Given the description of an element on the screen output the (x, y) to click on. 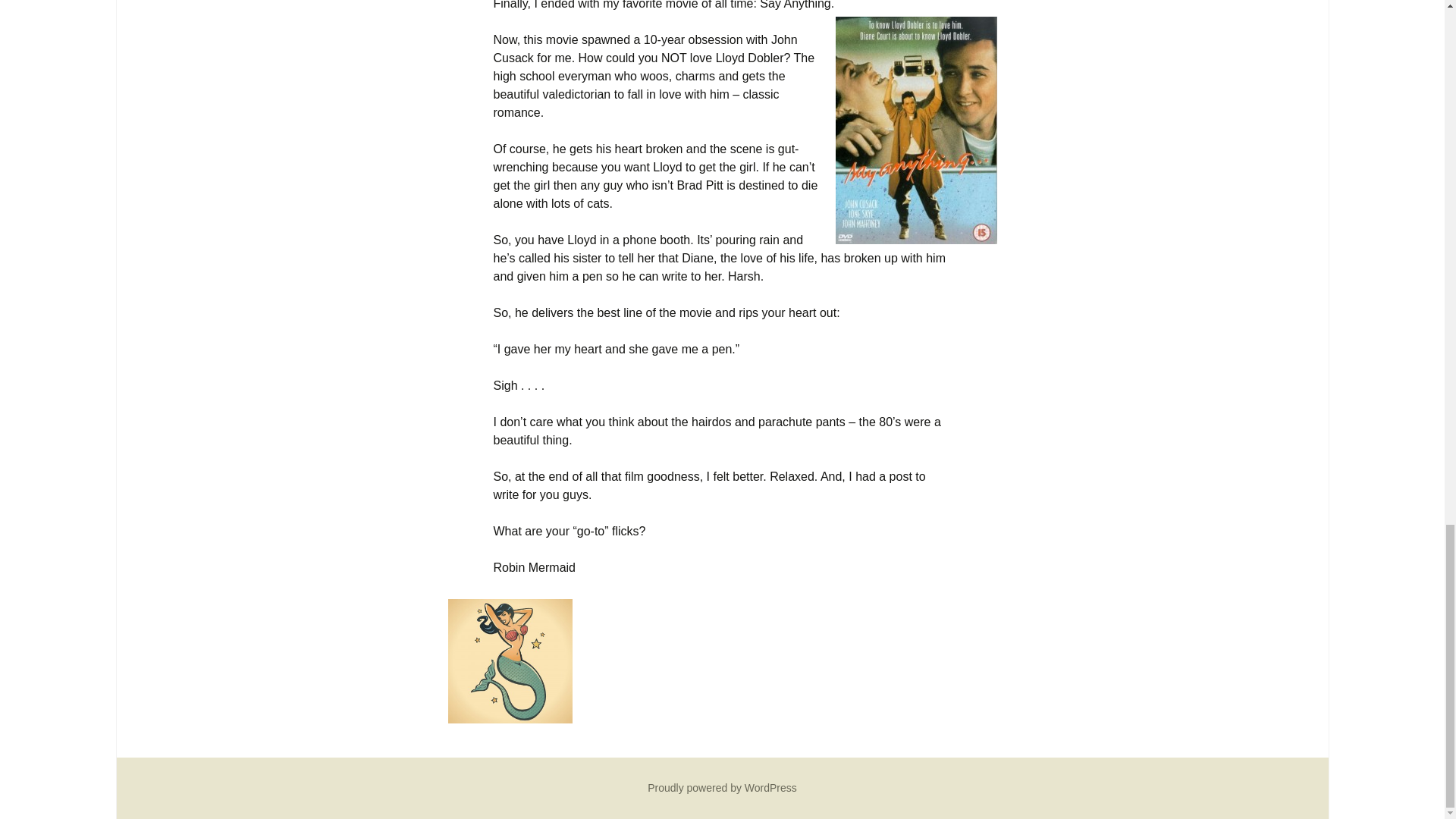
Mermaid avatar (509, 660)
Semantic Personal Publishing Platform (721, 787)
